Given the description of an element on the screen output the (x, y) to click on. 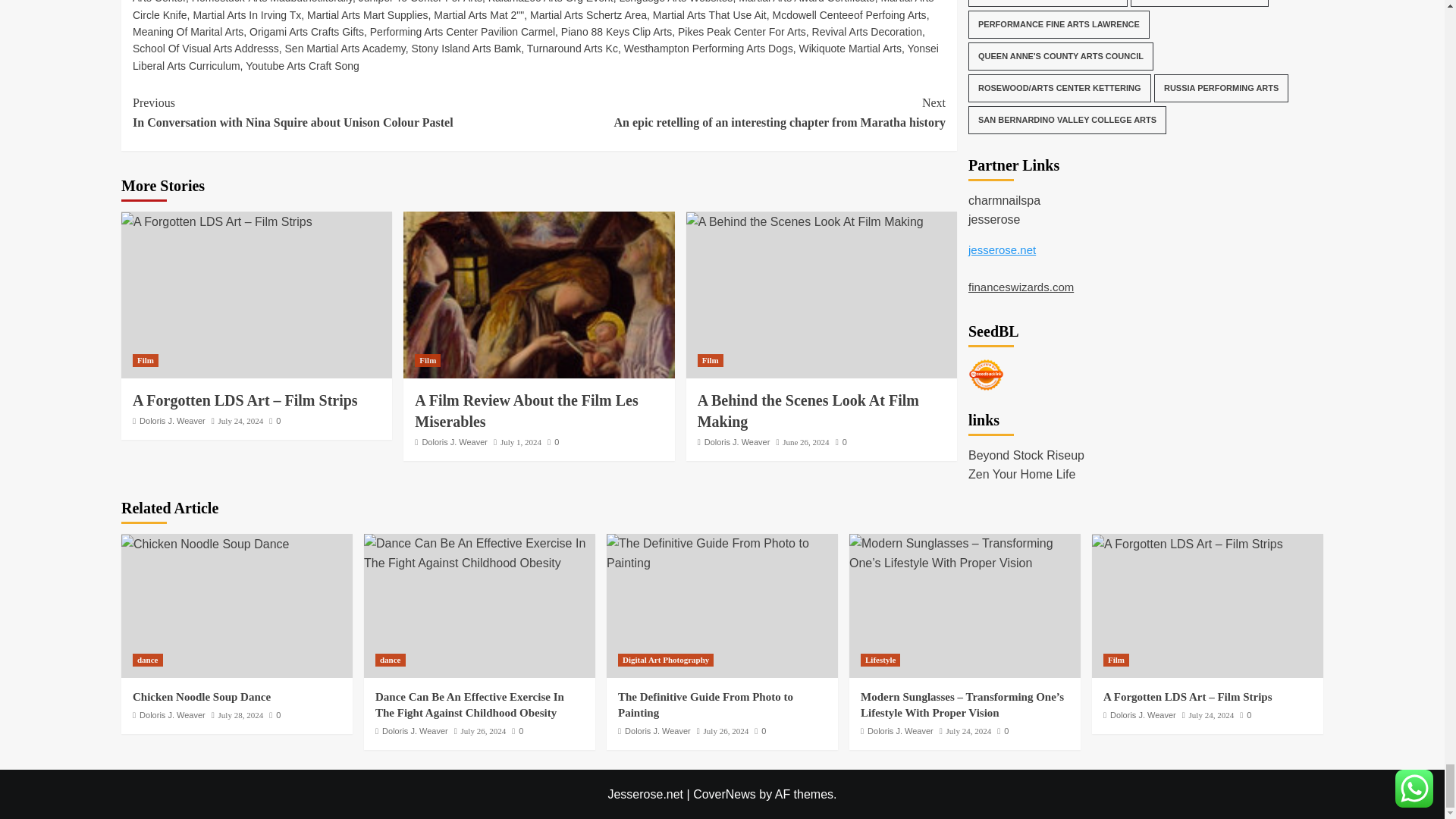
A Behind the Scenes Look At Film Making (804, 221)
A Film Review About the Film Les Miserables (538, 294)
The Definitive Guide From Photo to Painting (722, 552)
Chicken Noodle Soup Dance (204, 544)
